Given the description of an element on the screen output the (x, y) to click on. 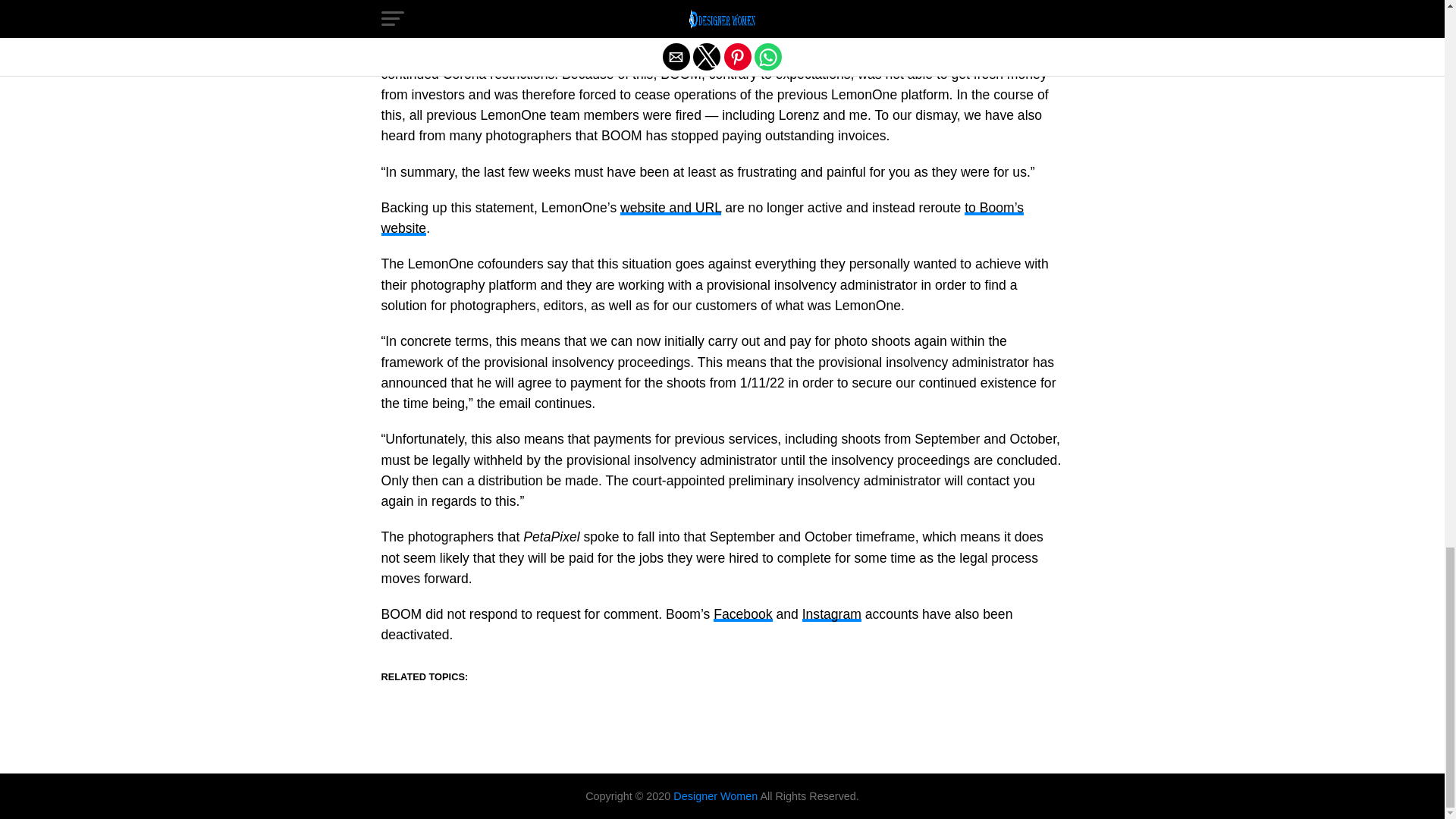
Designer Women (716, 796)
Instagram (831, 613)
Facebook (742, 613)
website and URL (670, 207)
